Given the description of an element on the screen output the (x, y) to click on. 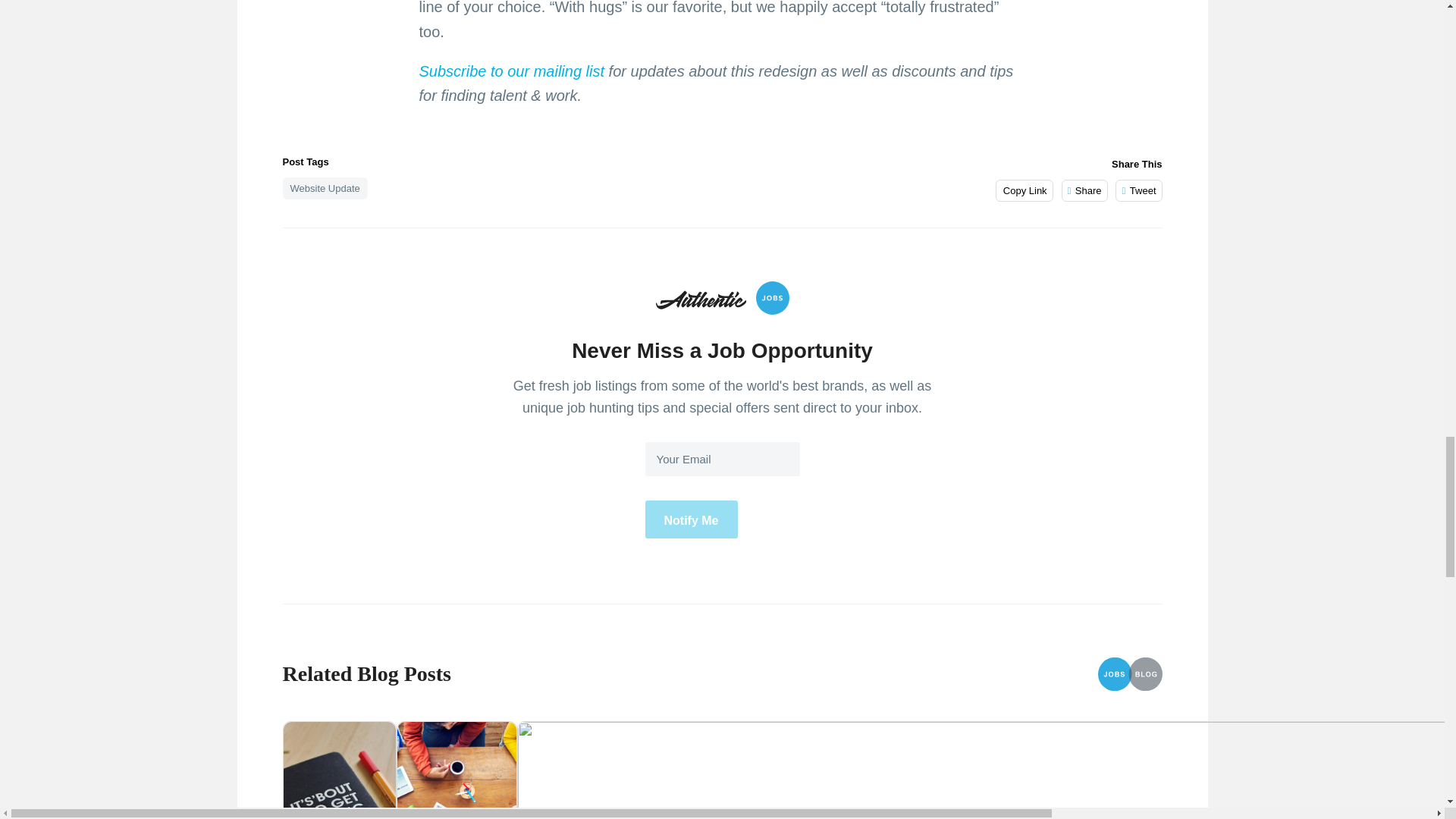
Copy Link (1023, 190)
Notify Me (690, 519)
Share (1084, 190)
Subscribe to our mailing list (511, 71)
Tweet (1138, 190)
Website Update (324, 188)
